Given the description of an element on the screen output the (x, y) to click on. 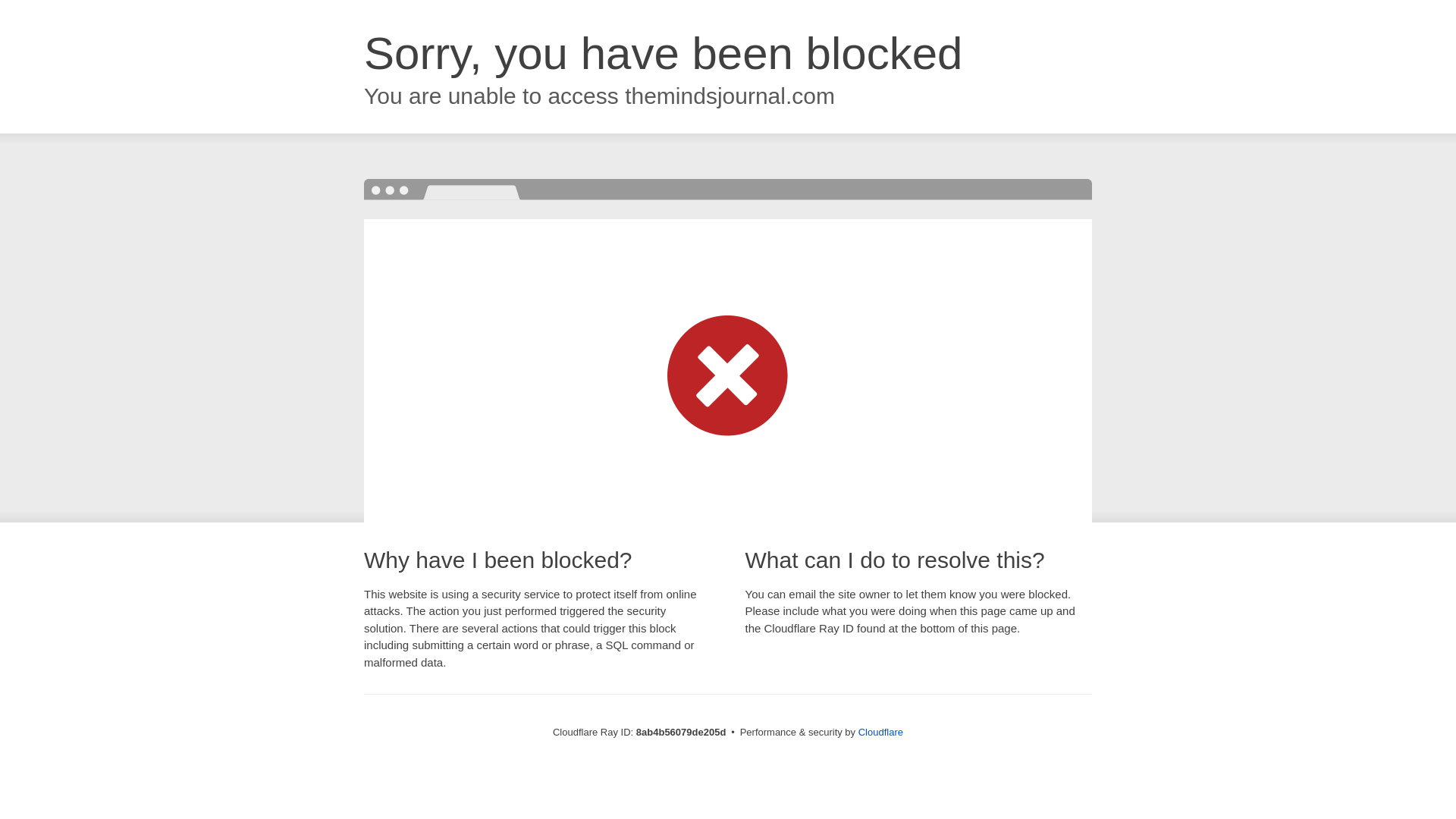
Cloudflare (880, 731)
